Given the description of an element on the screen output the (x, y) to click on. 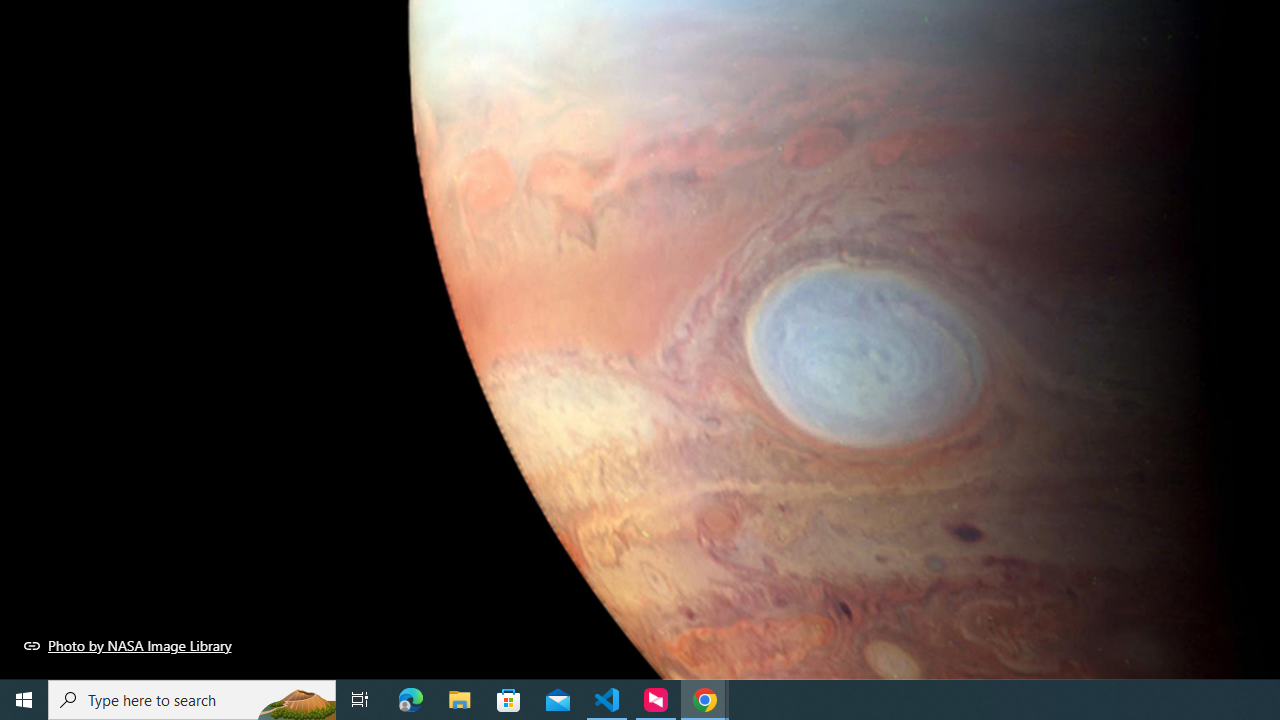
Photo by NASA Image Library (127, 645)
